Given the description of an element on the screen output the (x, y) to click on. 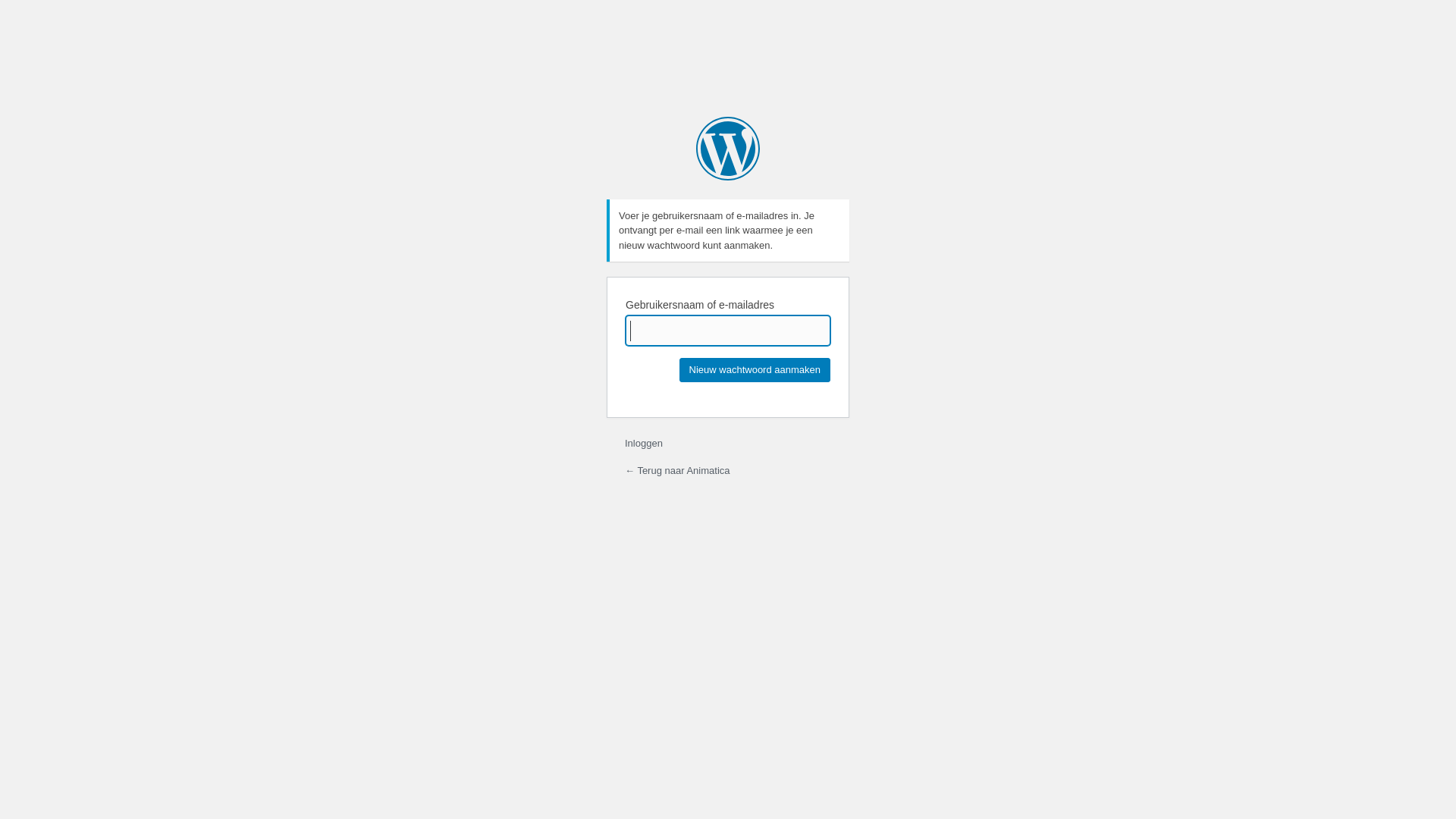
Inloggen Element type: text (643, 442)
Nieuw wachtwoord aanmaken Element type: text (754, 369)
Mogelijk gemaakt door WordPress Element type: text (727, 148)
